Given the description of an element on the screen output the (x, y) to click on. 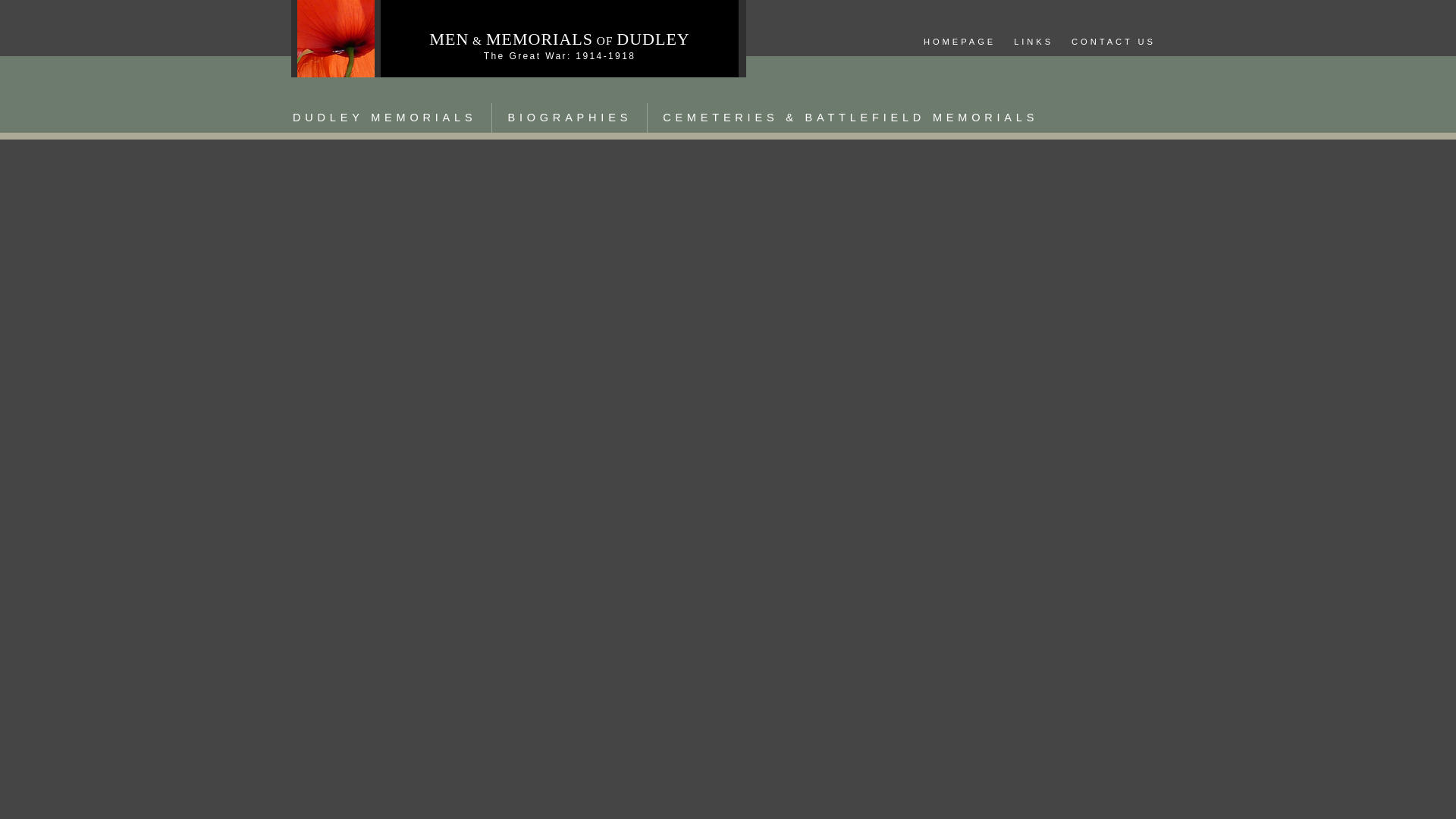
HOMEPAGE (959, 42)
LINKS (1033, 42)
DUDLEY MEMORIALS (385, 117)
CONTACT US (1113, 42)
BIOGRAPHIES (569, 117)
Dudley Memorials (385, 117)
Links (1033, 42)
Other Memorials (849, 117)
Homepage (959, 42)
Contact Us (1113, 42)
